Given the description of an element on the screen output the (x, y) to click on. 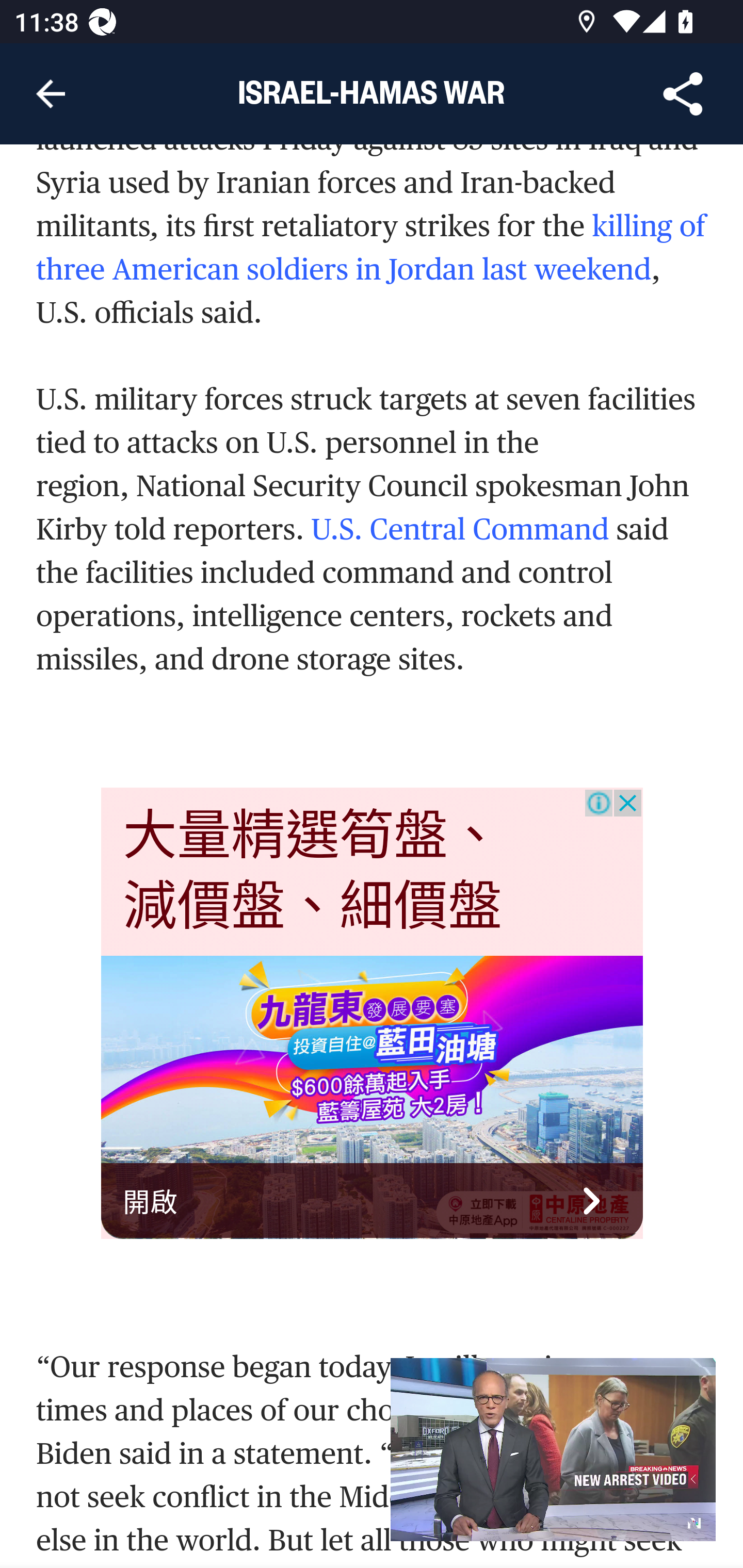
Navigate up (50, 93)
Share Article, button (683, 94)
killing of three American soldiers (370, 249)
U.S. Central Command  (463, 530)
大量精選筍盤、 減價盤、細價盤 大量精選筍盤、 減價盤、細價盤 (312, 870)
開啟 (372, 1199)
